Given the description of an element on the screen output the (x, y) to click on. 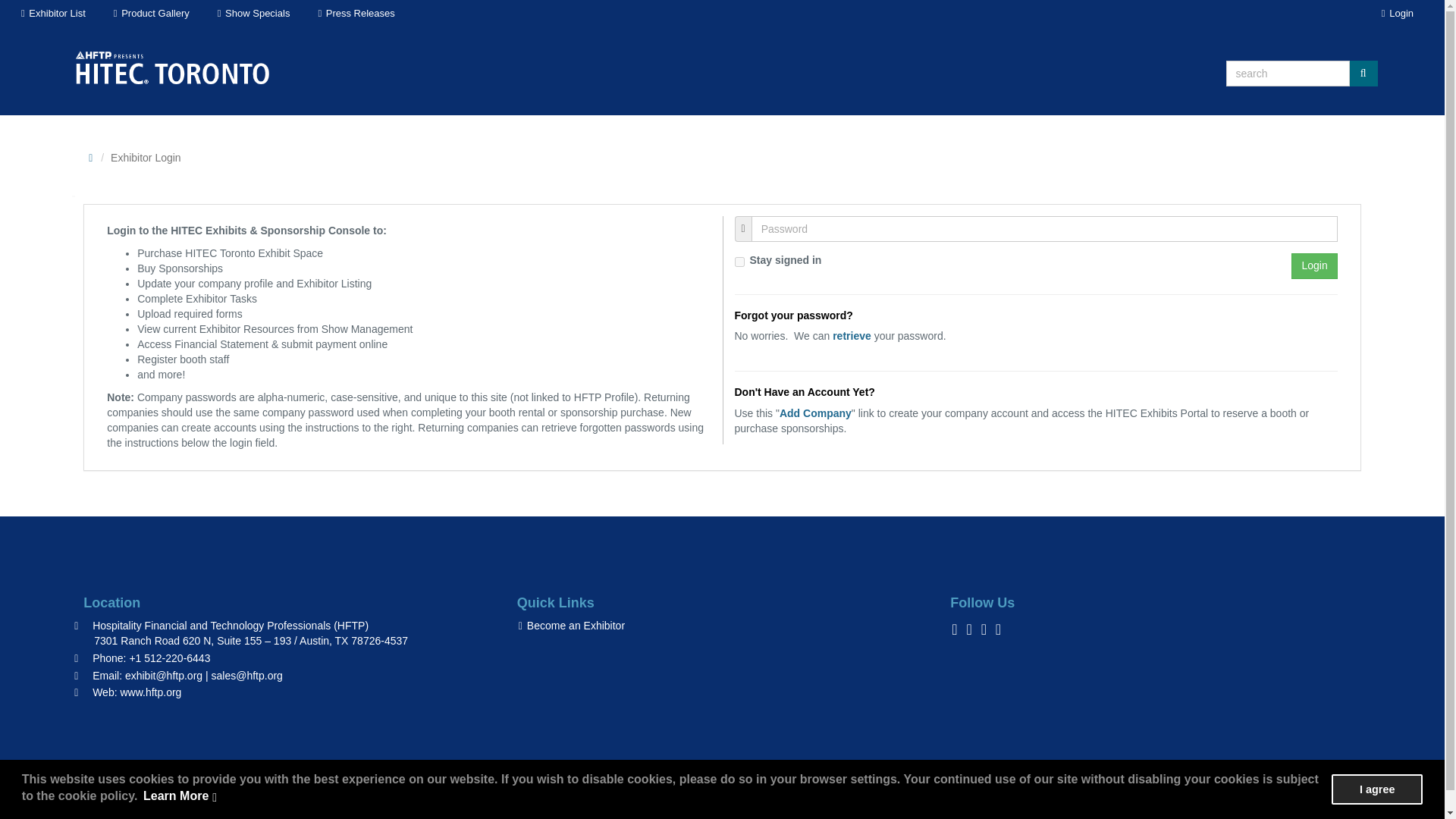
Login (1313, 266)
Product Gallery (150, 13)
retrieve (851, 336)
Learn More (180, 796)
Exhibitor List (52, 13)
Login (1313, 266)
on (738, 261)
Add Company (814, 413)
Show Specials (253, 13)
www.hftp.org (149, 692)
Become an Exhibitor (570, 625)
Login (1397, 13)
Press Releases (354, 13)
I agree (1377, 788)
